Given the description of an element on the screen output the (x, y) to click on. 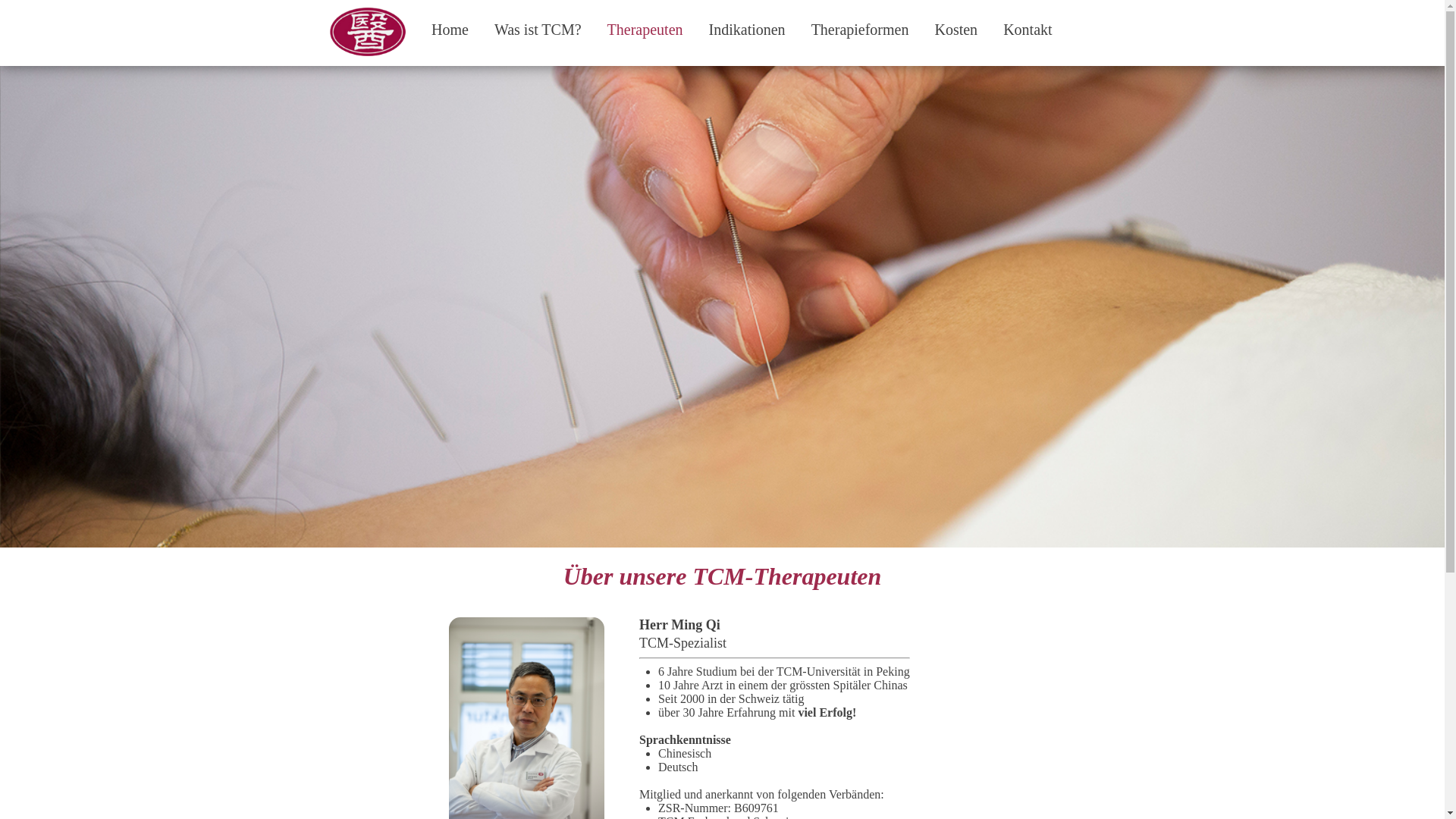
Therapeuten Element type: text (644, 19)
Therapieformen Element type: text (859, 19)
Kosten Element type: text (955, 19)
Home Element type: text (449, 19)
Was ist TCM? Element type: text (536, 19)
Indikationen Element type: text (746, 19)
Kontakt Element type: text (1027, 19)
